Given the description of an element on the screen output the (x, y) to click on. 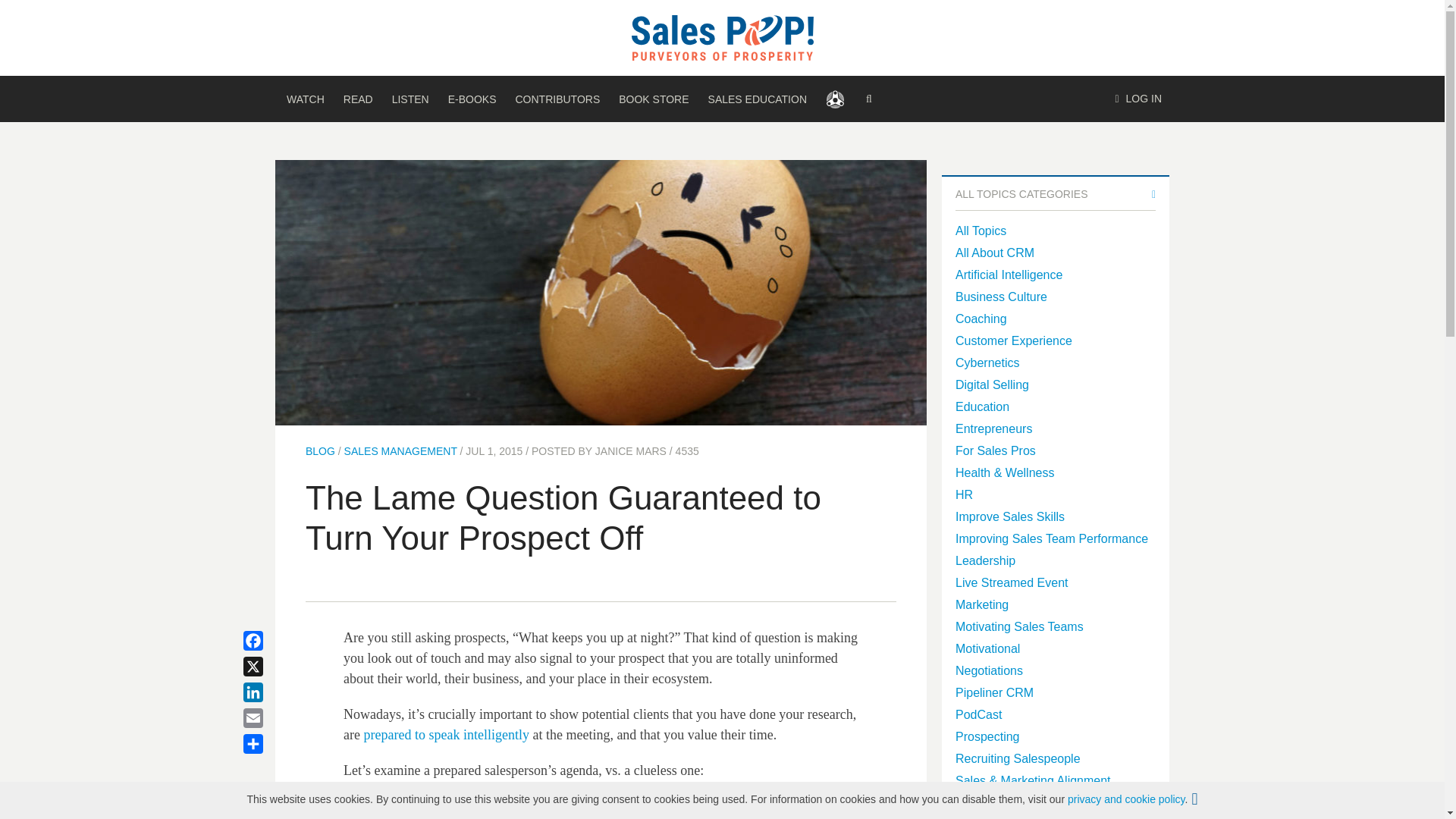
All About CRM (994, 252)
SALES EDUCATION (756, 99)
Business Culture (1000, 296)
Facebook (271, 640)
JANICE MARS (630, 451)
Digital Selling (992, 384)
SALES MANAGEMENT (400, 451)
Facebook (271, 640)
Artificial Intelligence (1008, 274)
LinkedIn (271, 692)
Email (271, 718)
BOOK STORE (653, 99)
CONTRIBUTORS (556, 99)
LISTEN (410, 99)
Customer Experience (1013, 340)
